Given the description of an element on the screen output the (x, y) to click on. 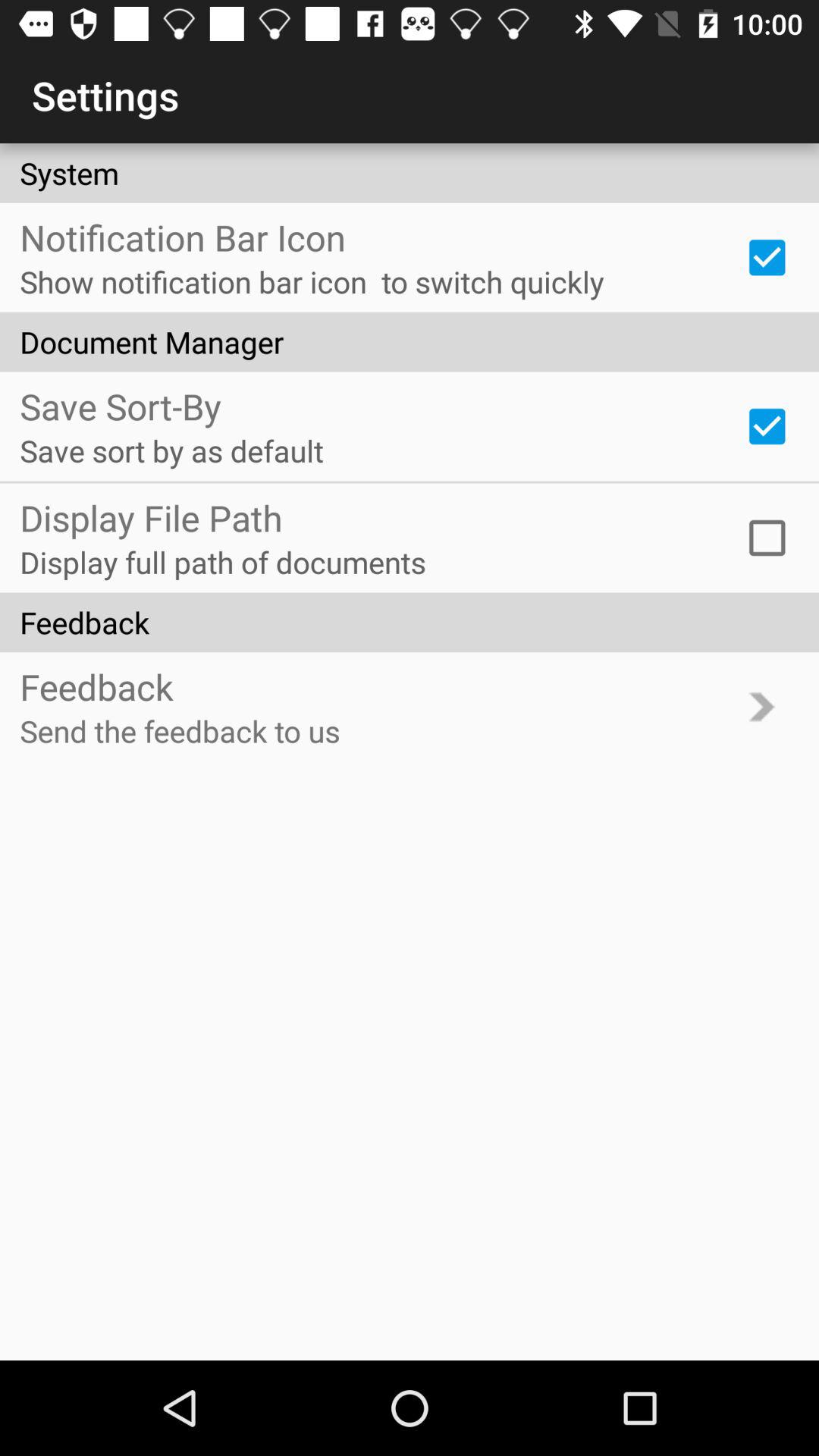
turn on icon to the right of show notification bar (767, 257)
